Given the description of an element on the screen output the (x, y) to click on. 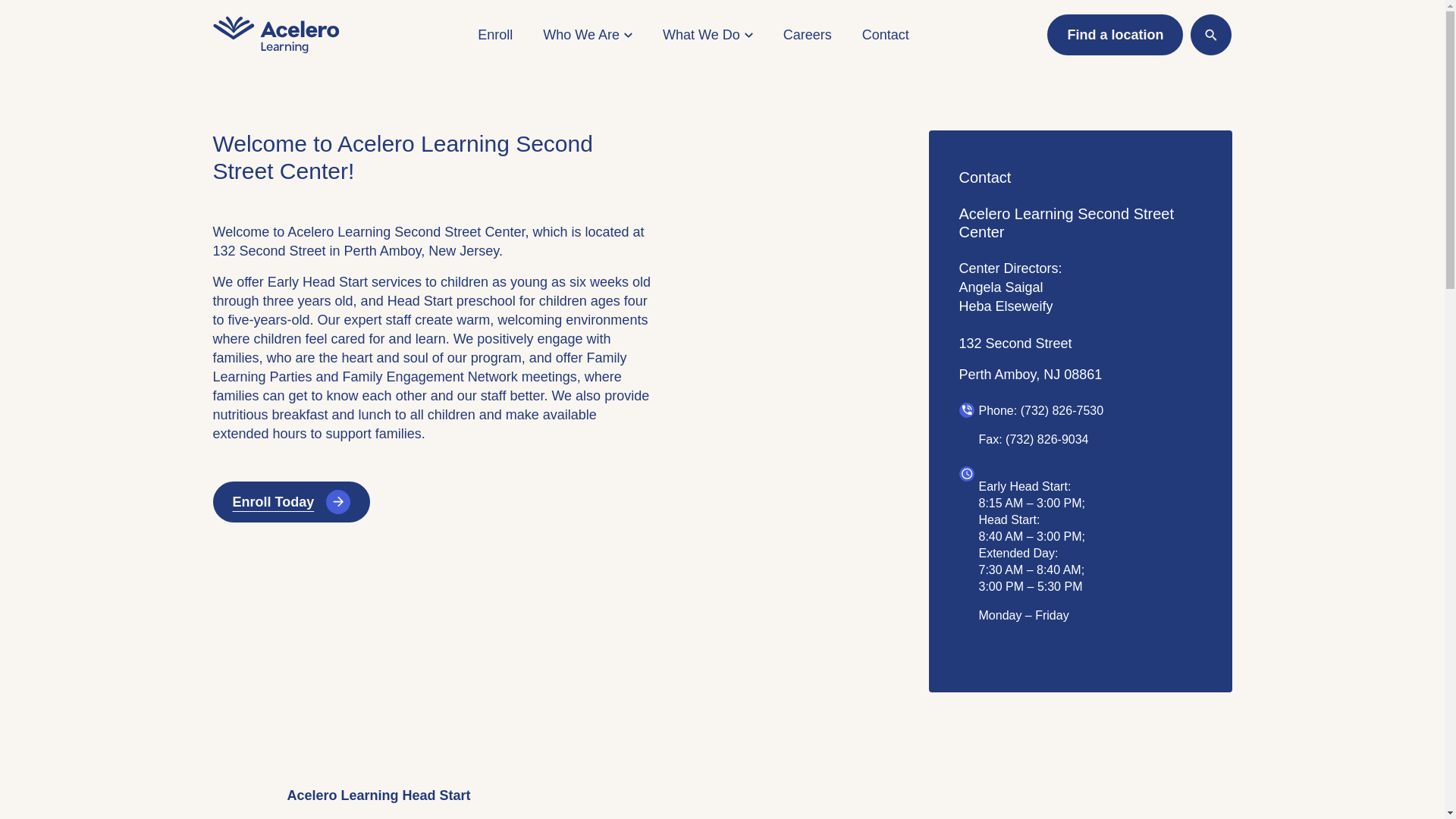
Enroll Today (290, 501)
Find a location (1114, 34)
Enroll (494, 34)
Careers (807, 34)
Contact (884, 34)
Who We Are (587, 34)
Acelero Learning (275, 34)
Who We Are (587, 34)
Contact (884, 34)
Enroll (494, 34)
What We Do (707, 34)
What We Do (707, 34)
Careers (807, 34)
